Given the description of an element on the screen output the (x, y) to click on. 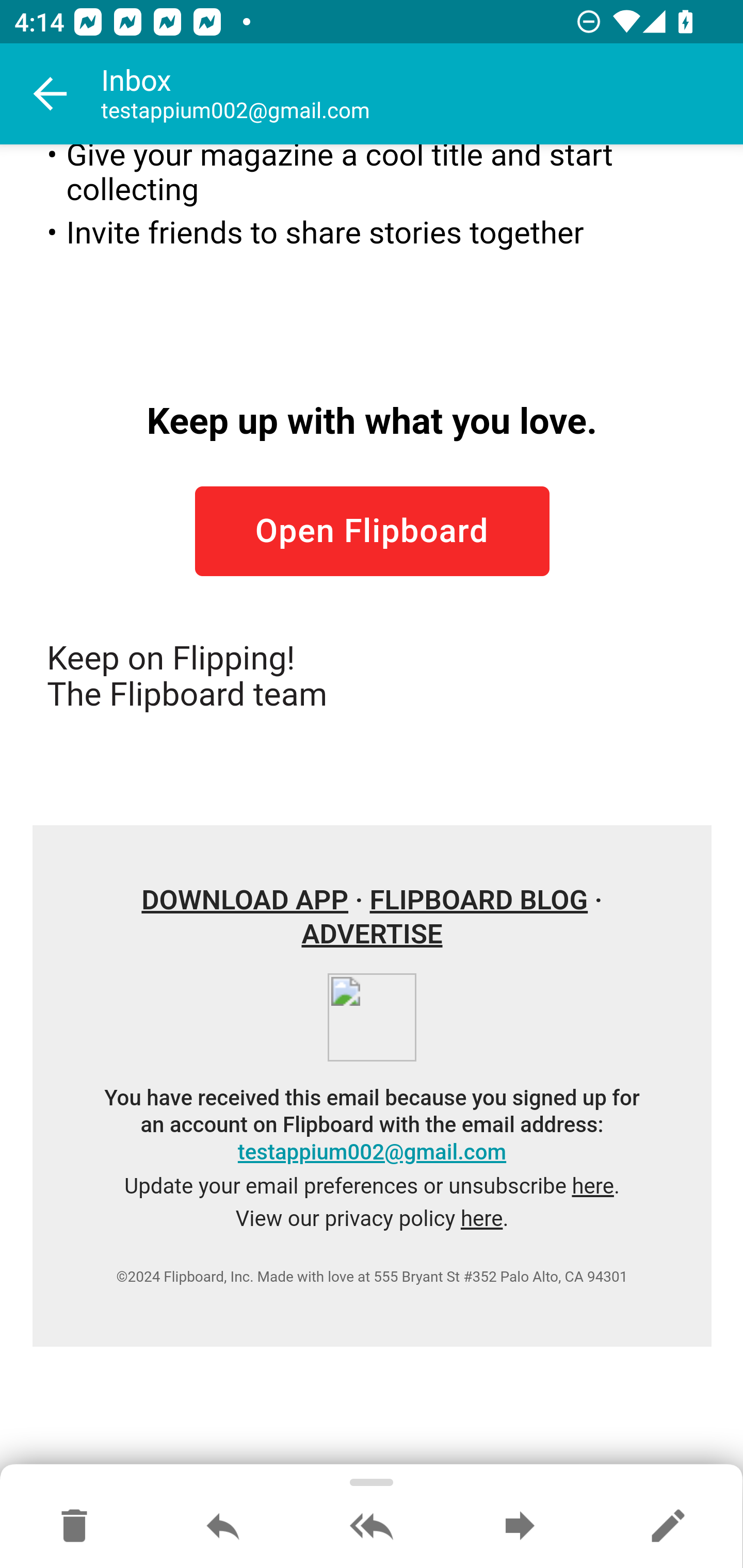
Navigate up (50, 93)
Inbox testappium002@gmail.com (422, 93)
DOWNLOAD APP (245, 899)
FLIPBOARD BLOG (478, 899)
ADVERTISE (371, 934)
testappium002@gmail.com (371, 1152)
here (591, 1185)
here (480, 1218)
Move to Deleted (74, 1527)
Reply (222, 1527)
Reply all (371, 1527)
Forward (519, 1527)
Reply as new (667, 1527)
